Given the description of an element on the screen output the (x, y) to click on. 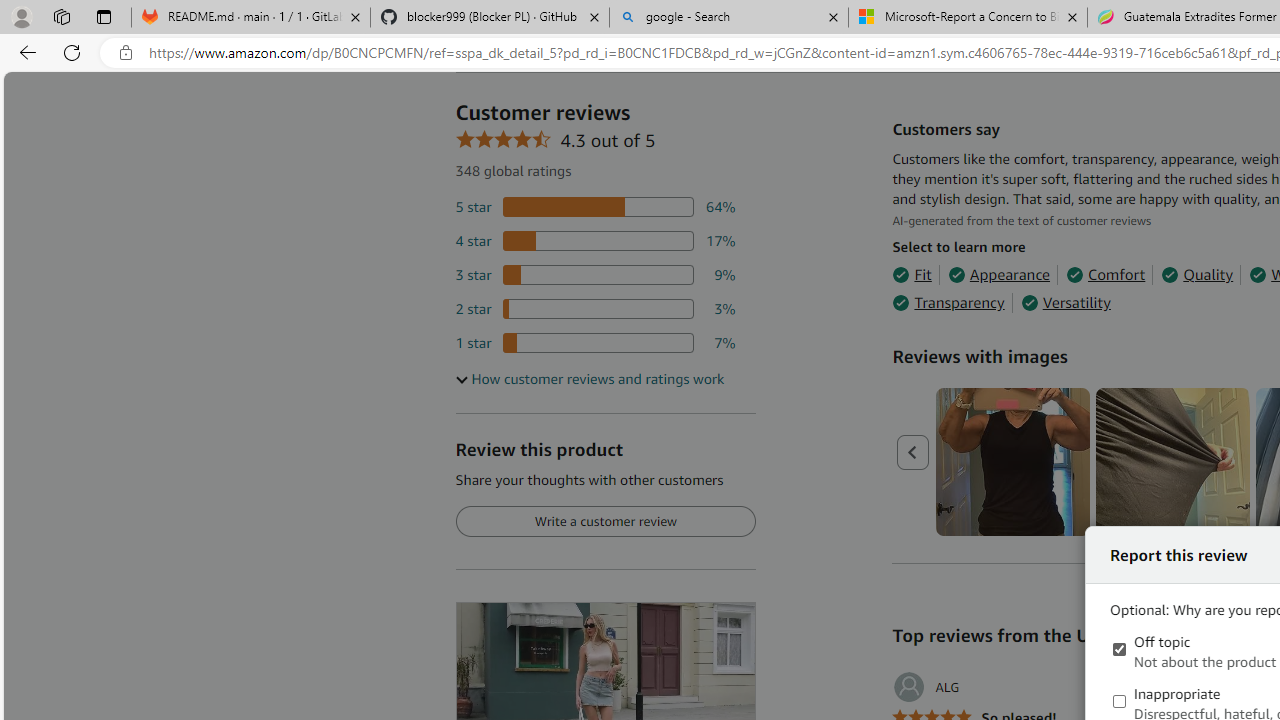
Quality (1196, 274)
How customer reviews and ratings work (589, 379)
17 percent of reviews have 4 stars (595, 241)
Customer Image (1172, 462)
Comfort (1105, 274)
Write a customer review (605, 521)
Transparency (948, 303)
3 percent of reviews have 2 stars (595, 308)
64 percent of reviews have 5 stars (595, 207)
